Given the description of an element on the screen output the (x, y) to click on. 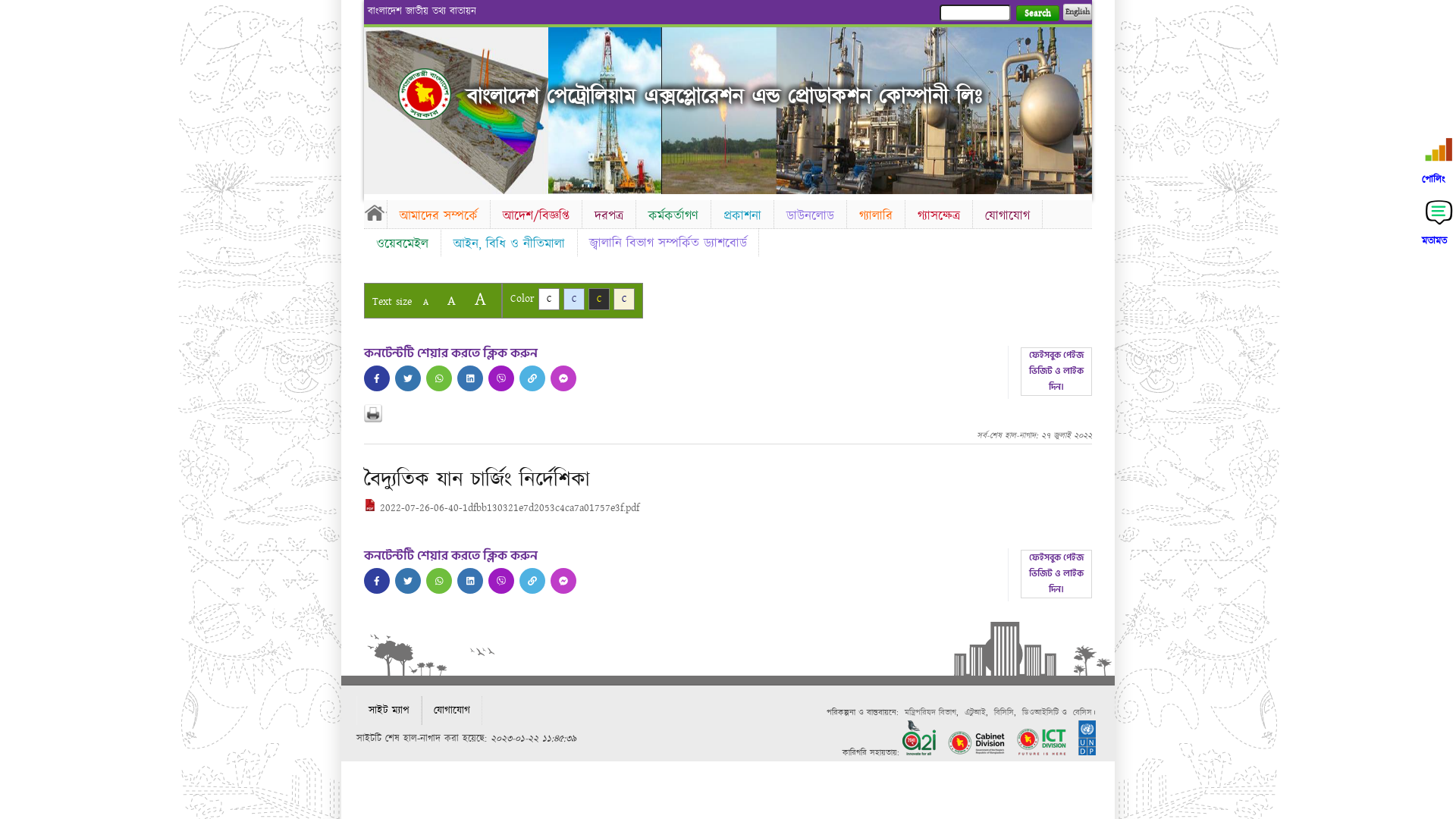
English Element type: text (1077, 11)
A Element type: text (425, 301)
A Element type: text (480, 298)
C Element type: text (573, 299)
A Element type: text (451, 300)
2022-07-26-06-40-1dfbb130321e7d2053c4ca7a01757e3f.pdf Element type: text (501, 507)
C Element type: text (598, 299)
Search Element type: text (1037, 13)
C Element type: text (548, 299)
C Element type: text (623, 299)
Home Element type: hover (375, 211)
Home Element type: hover (424, 93)
